Given the description of an element on the screen output the (x, y) to click on. 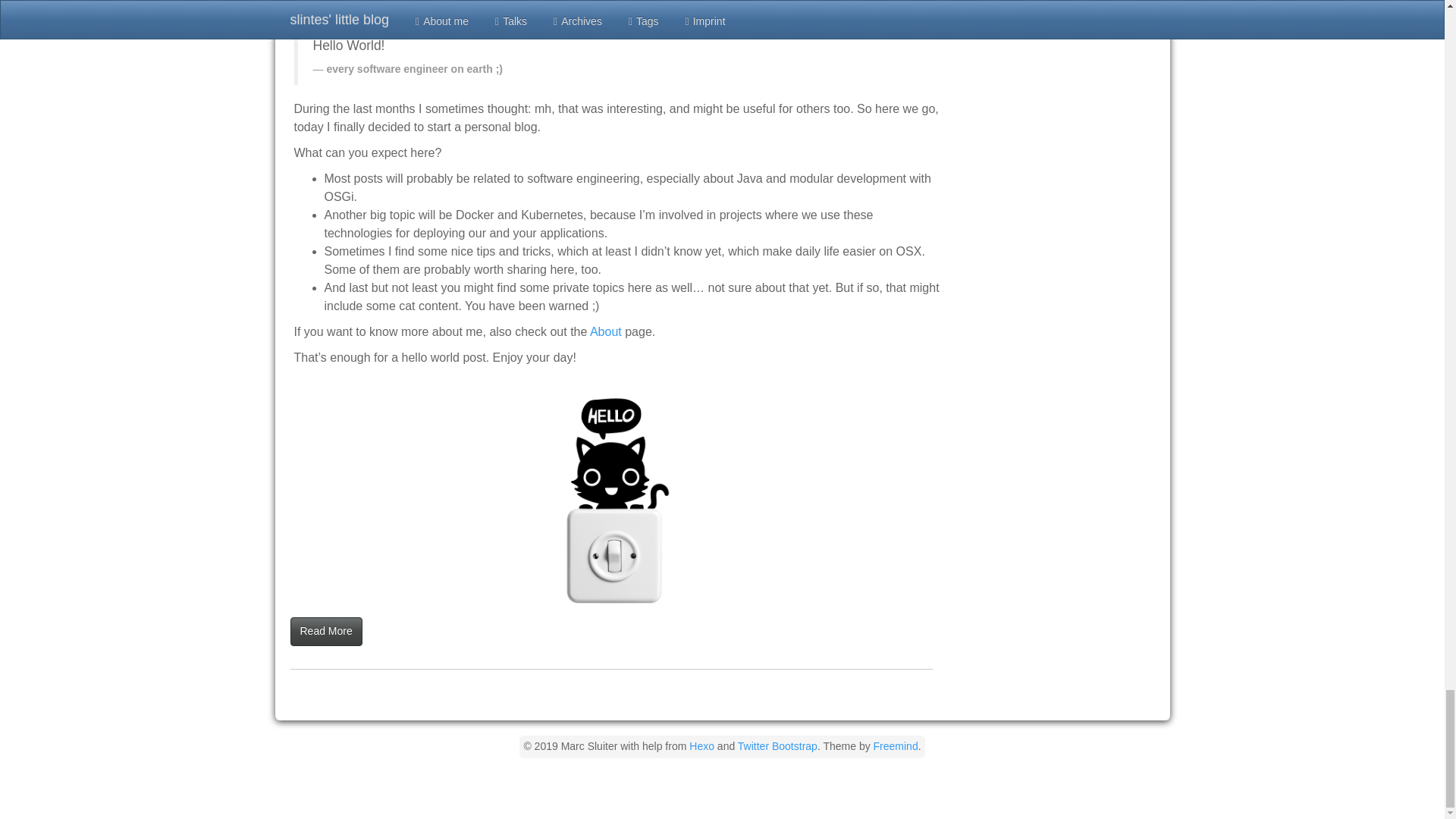
Hello World (616, 492)
